Given the description of an element on the screen output the (x, y) to click on. 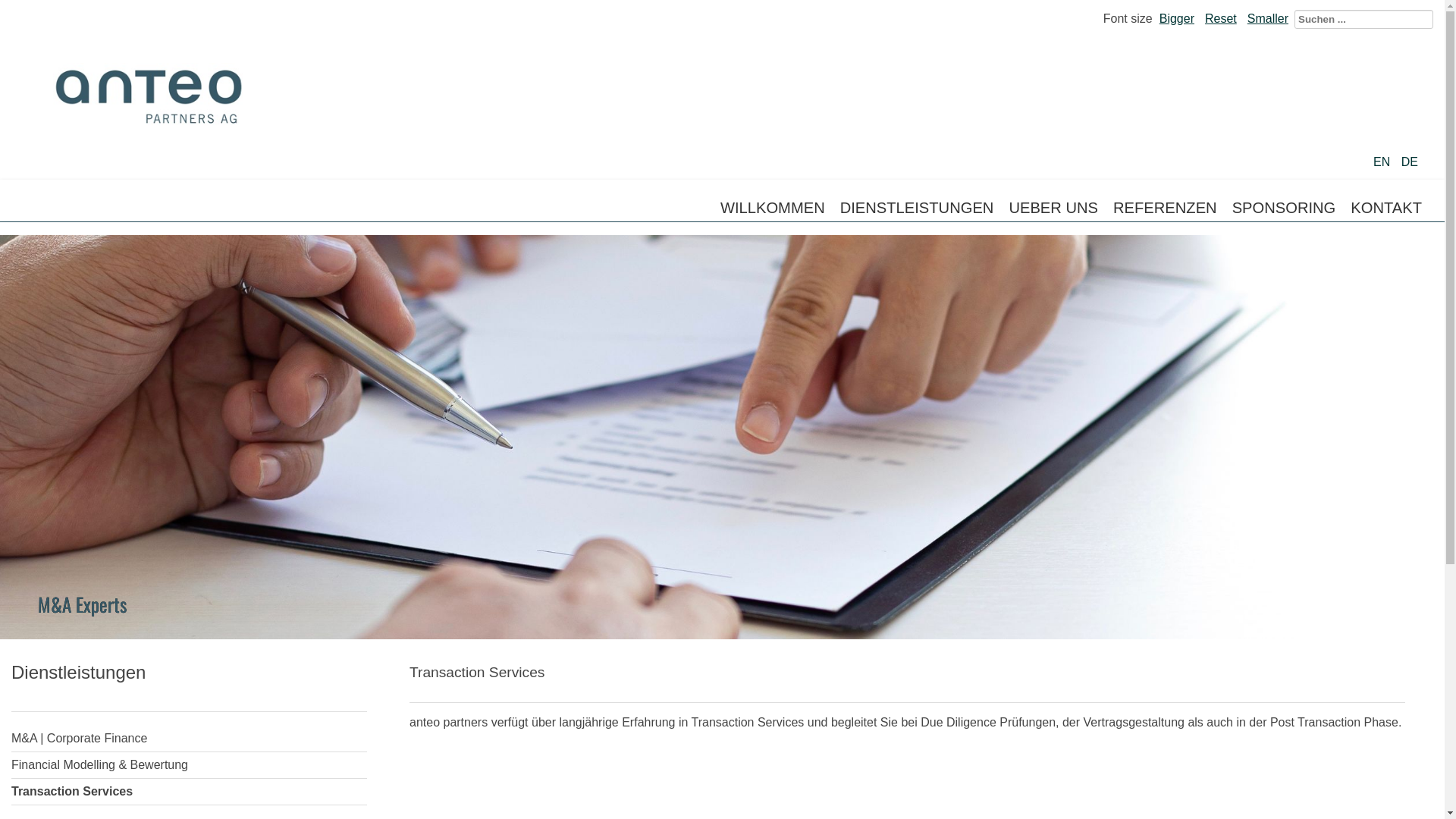
Smaller Element type: text (1267, 18)
EN Element type: text (1383, 161)
Transaction Services Element type: text (189, 791)
Financial Modelling & Bewertung Element type: text (189, 765)
UEBER UNS Element type: text (1053, 207)
SPONSORING Element type: text (1283, 207)
WILLKOMMEN Element type: text (772, 207)
Reset Element type: text (1220, 18)
REFERENZEN Element type: text (1164, 207)
DE Element type: text (1409, 161)
M&A | Corporate Finance Element type: text (189, 738)
DIENSTLEISTUNGEN Element type: text (916, 207)
Bigger Element type: text (1176, 18)
KONTAKT Element type: text (1386, 207)
